Given the description of an element on the screen output the (x, y) to click on. 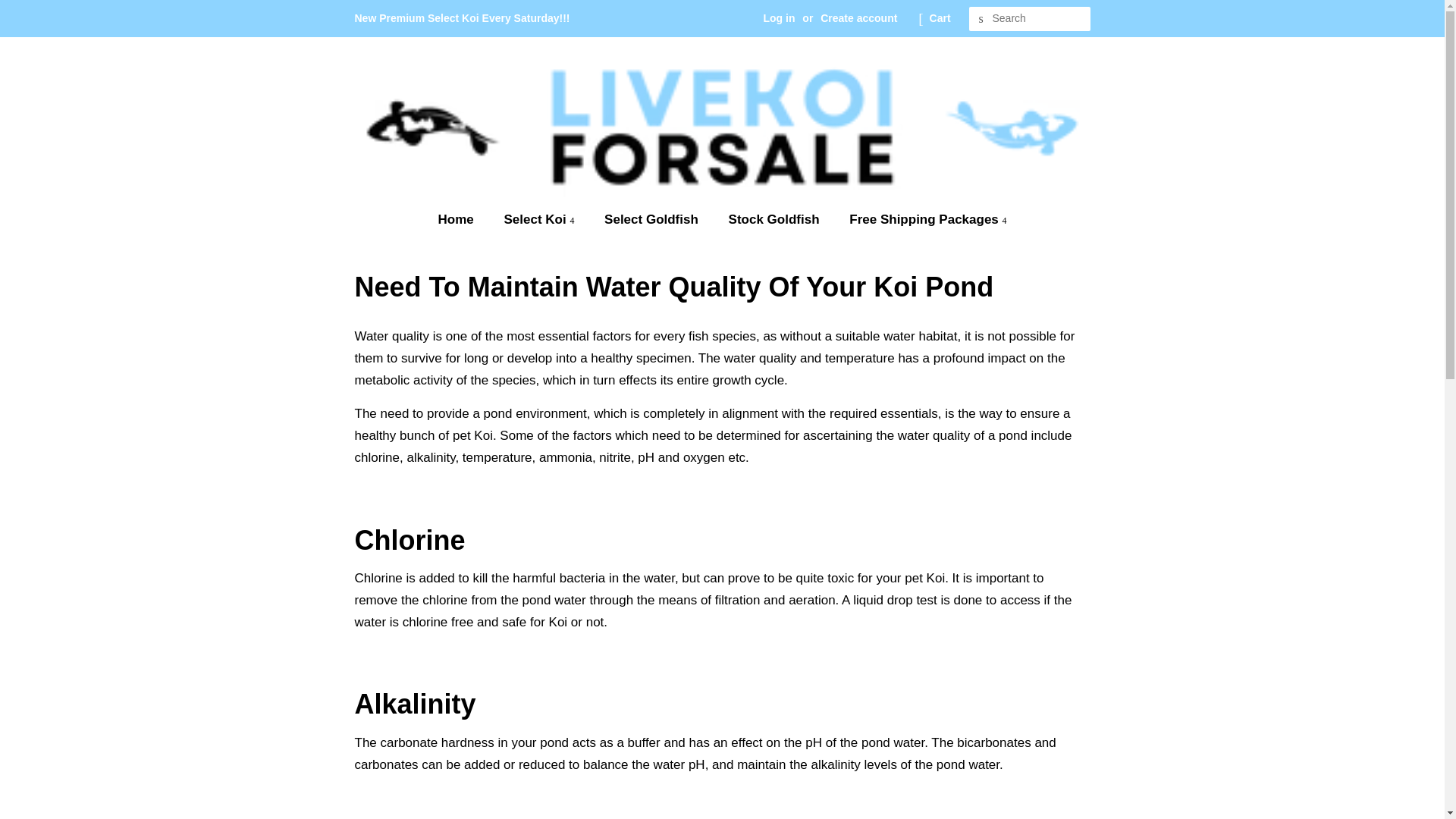
Search (980, 18)
Select Koi (540, 219)
Free Shipping Packages (922, 219)
Create account (858, 18)
Cart (940, 18)
Log in (778, 18)
New Premium Select Koi Every Saturday!!! (462, 18)
Home (463, 219)
Select Goldfish (652, 219)
Stock Goldfish (775, 219)
